Given the description of an element on the screen output the (x, y) to click on. 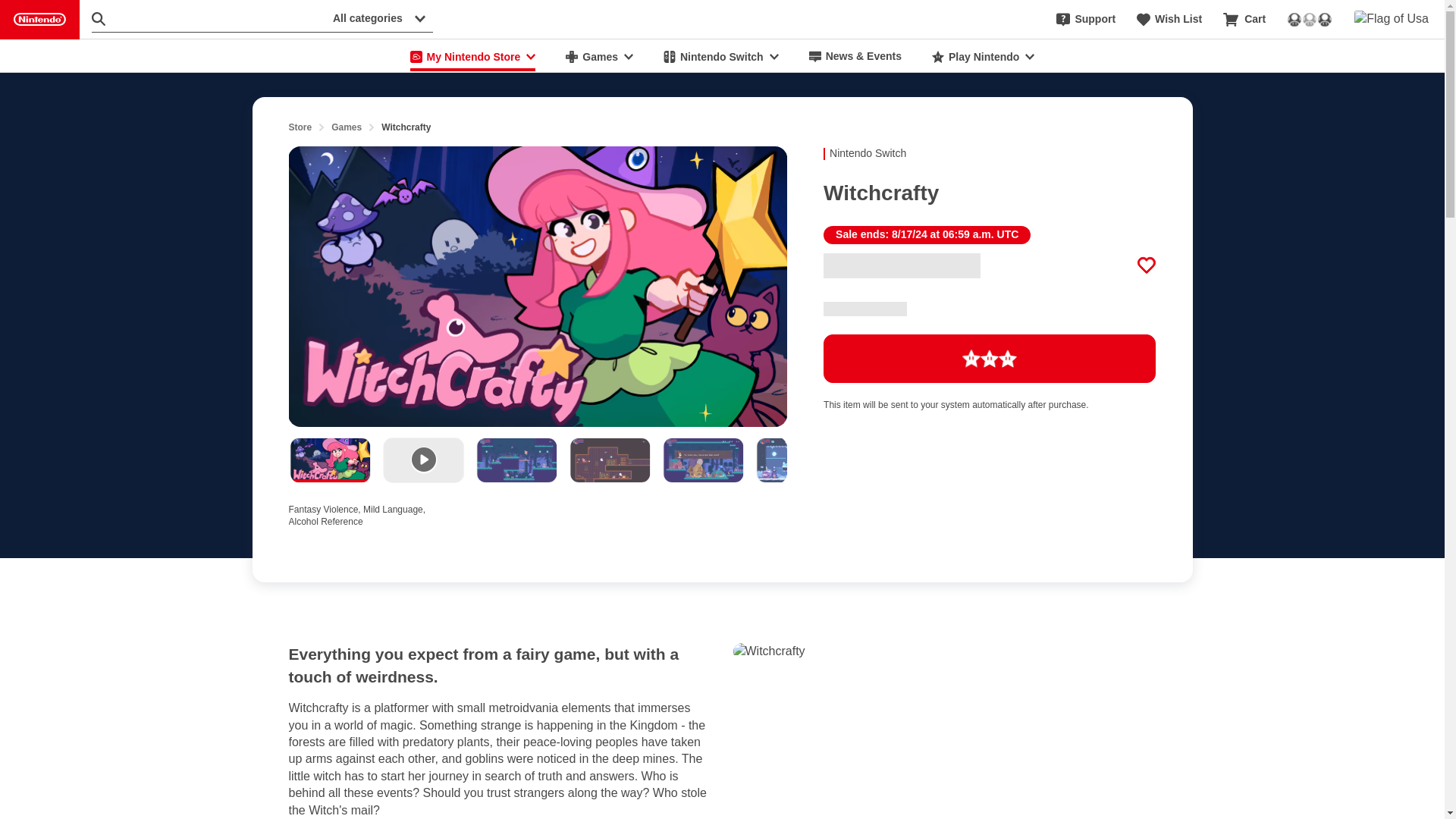
Add to Wish List (1146, 265)
Games (599, 56)
Support (1086, 19)
Fantasy Violence, Mild Language, Alcohol Reference (363, 513)
Cart (1244, 19)
Games (346, 127)
My Nintendo Store (472, 56)
Loading (990, 358)
Wish List (1169, 19)
Nintendo (40, 19)
Store (299, 127)
Play Nintendo (983, 56)
Nintendo Switch (720, 56)
